Given the description of an element on the screen output the (x, y) to click on. 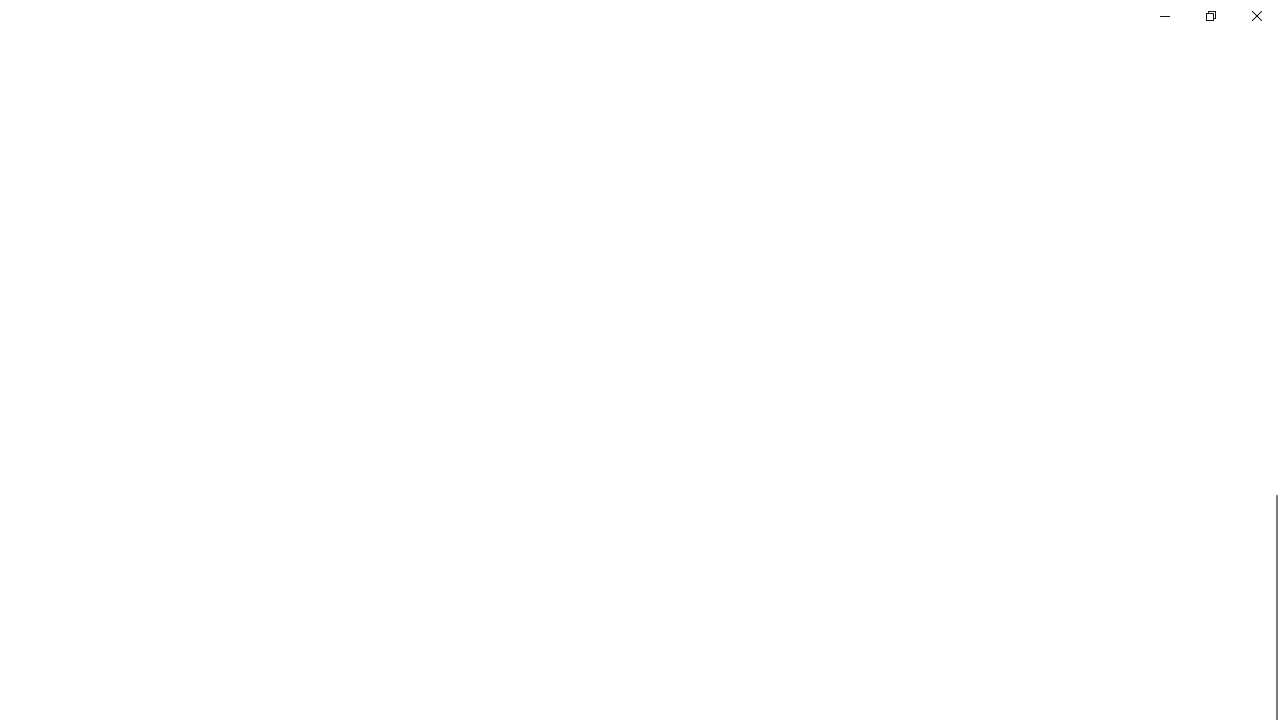
Close Settings (1256, 15)
Vertical Small Decrease (1272, 103)
Restore Settings (1210, 15)
Vertical Large Decrease (1272, 303)
Minimize Settings (1164, 15)
